Given the description of an element on the screen output the (x, y) to click on. 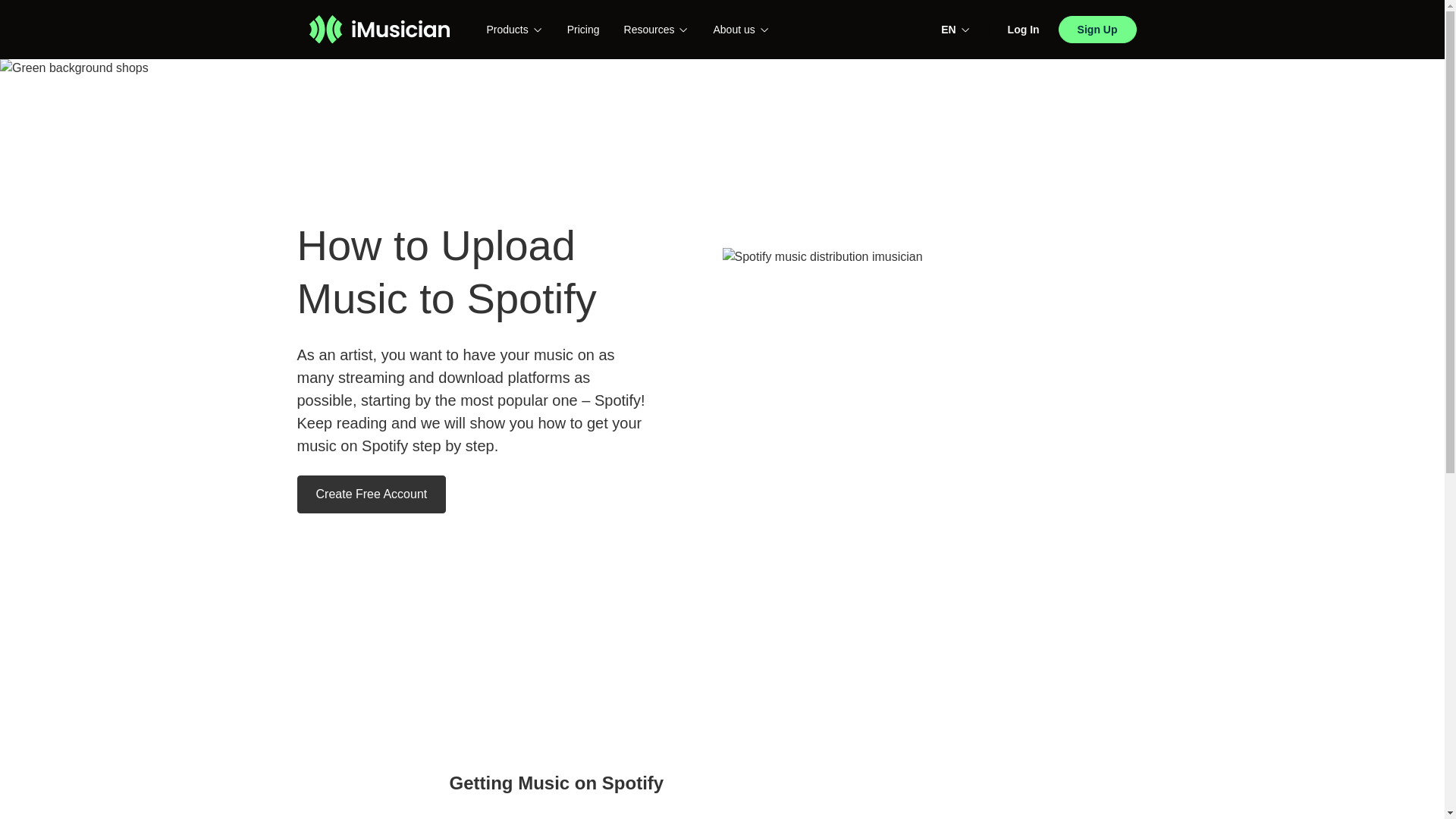
Products (514, 29)
EN (954, 29)
Pricing (583, 29)
About us (740, 29)
Log In (1023, 29)
Spotify music distribution imusician (934, 366)
Sign Up (1097, 29)
Skip to main content (11, 11)
Resources (656, 29)
